Given the description of an element on the screen output the (x, y) to click on. 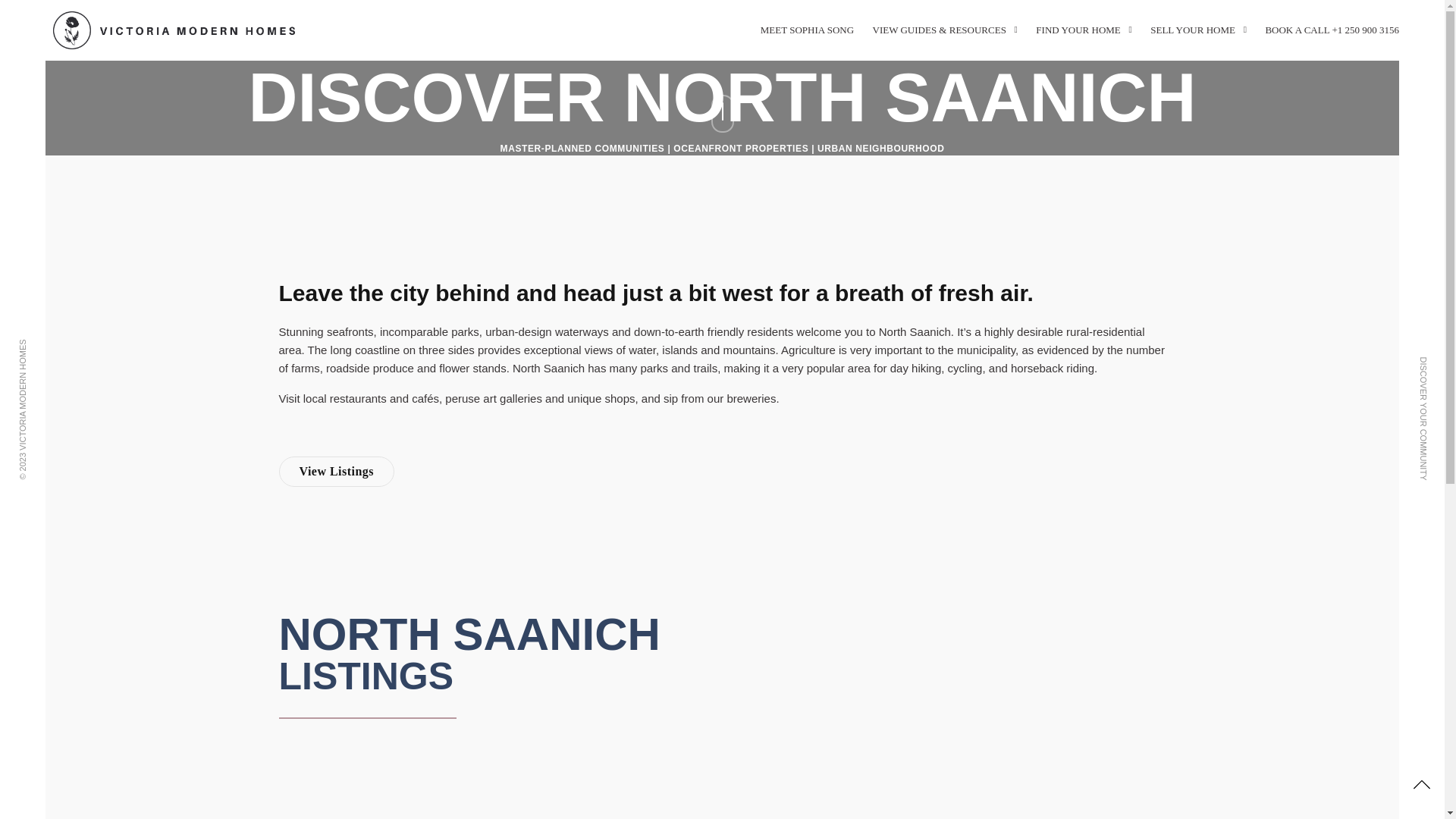
FIND YOUR HOME (1083, 29)
View Listings (336, 471)
SELL YOUR HOME (1198, 29)
MEET SOPHIA SONG (806, 29)
View Listings (336, 471)
